Given the description of an element on the screen output the (x, y) to click on. 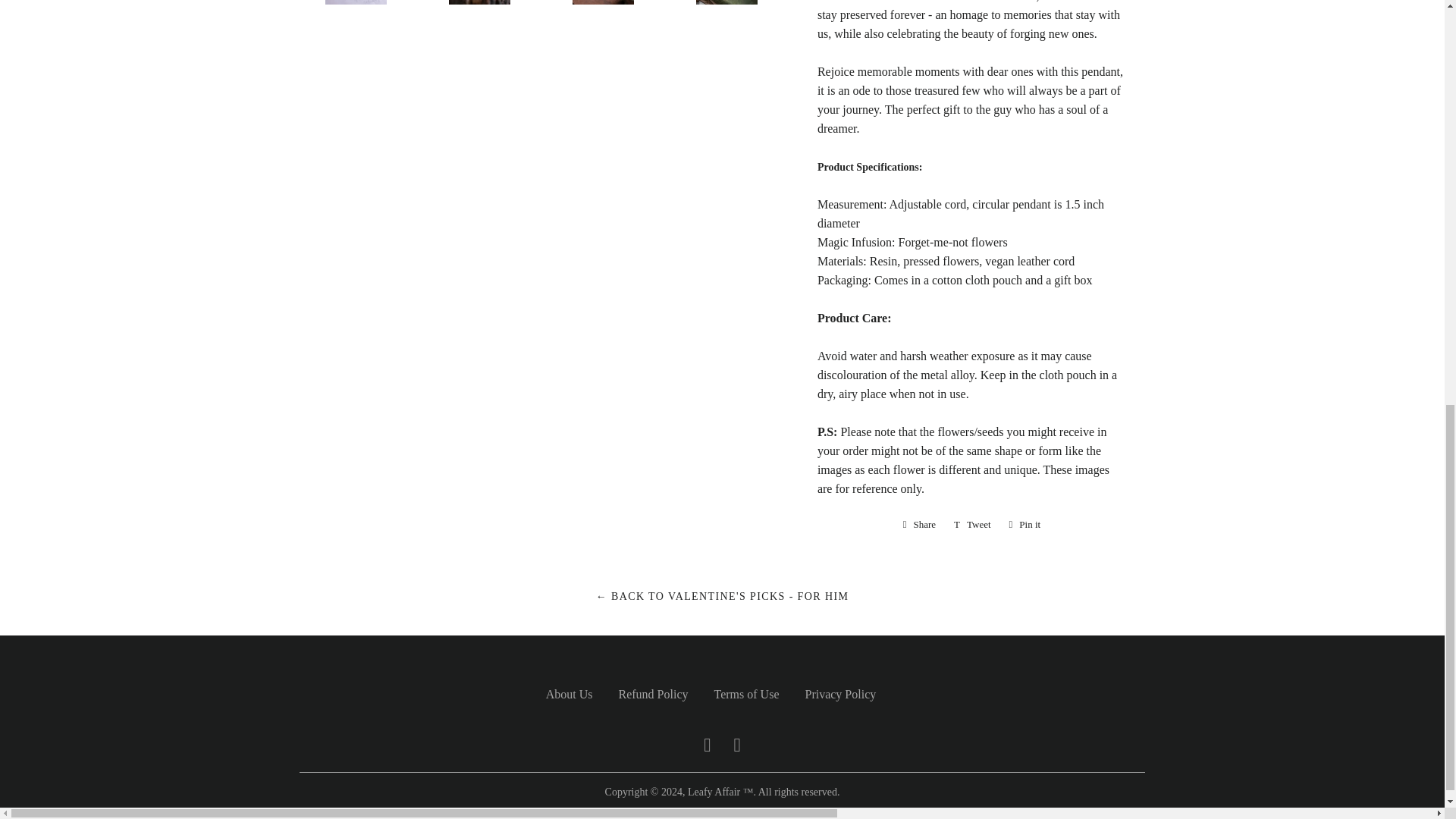
Pin on Pinterest (1024, 524)
Tweet on Twitter (972, 524)
Share on Facebook (919, 524)
